Given the description of an element on the screen output the (x, y) to click on. 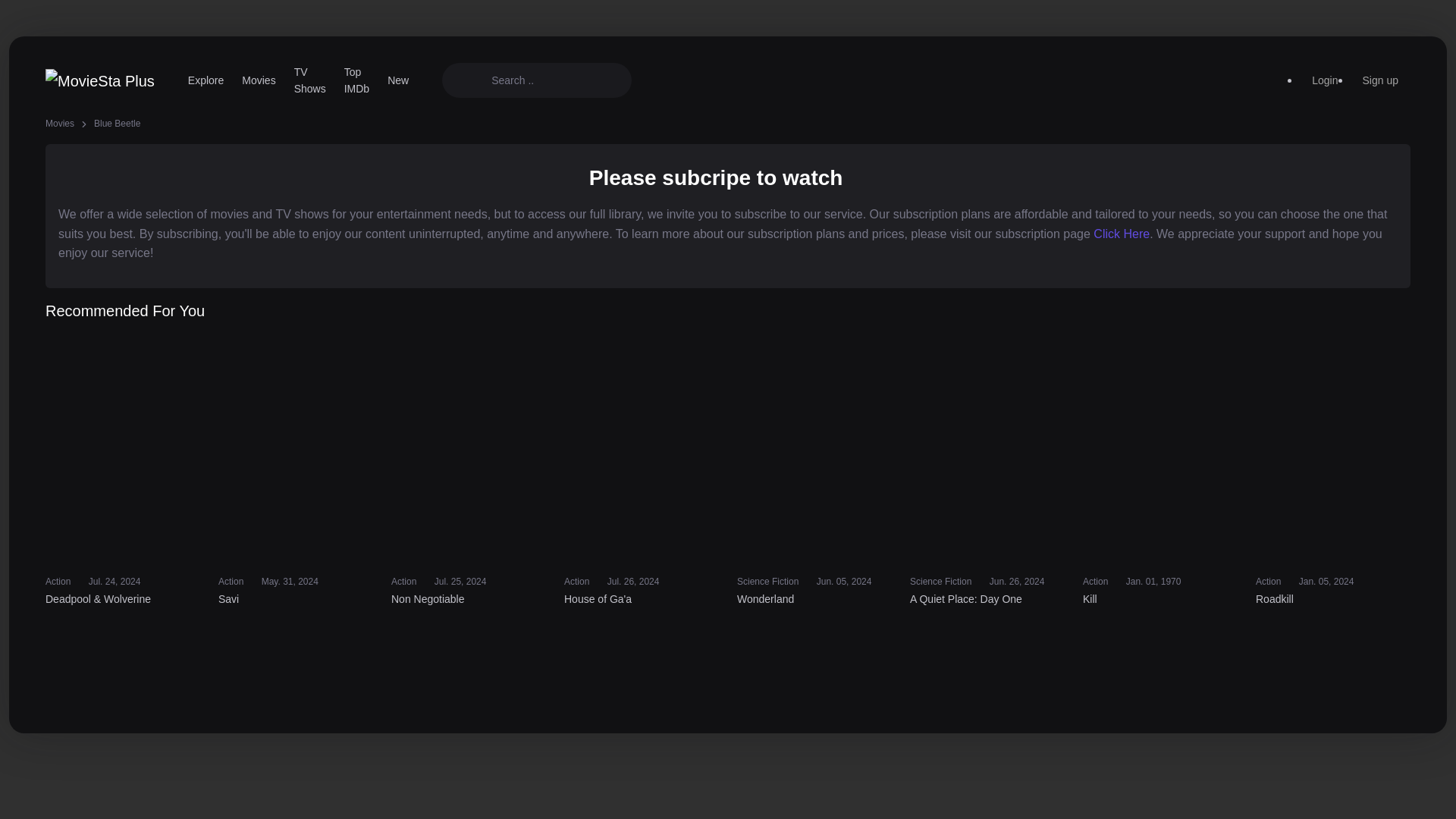
TV Shows (309, 80)
Click Here (1121, 233)
Sign up (1380, 80)
Top IMDb (356, 80)
Movies (257, 80)
New (397, 80)
Movies (59, 122)
Explore (205, 80)
Login (1324, 80)
